Given the description of an element on the screen output the (x, y) to click on. 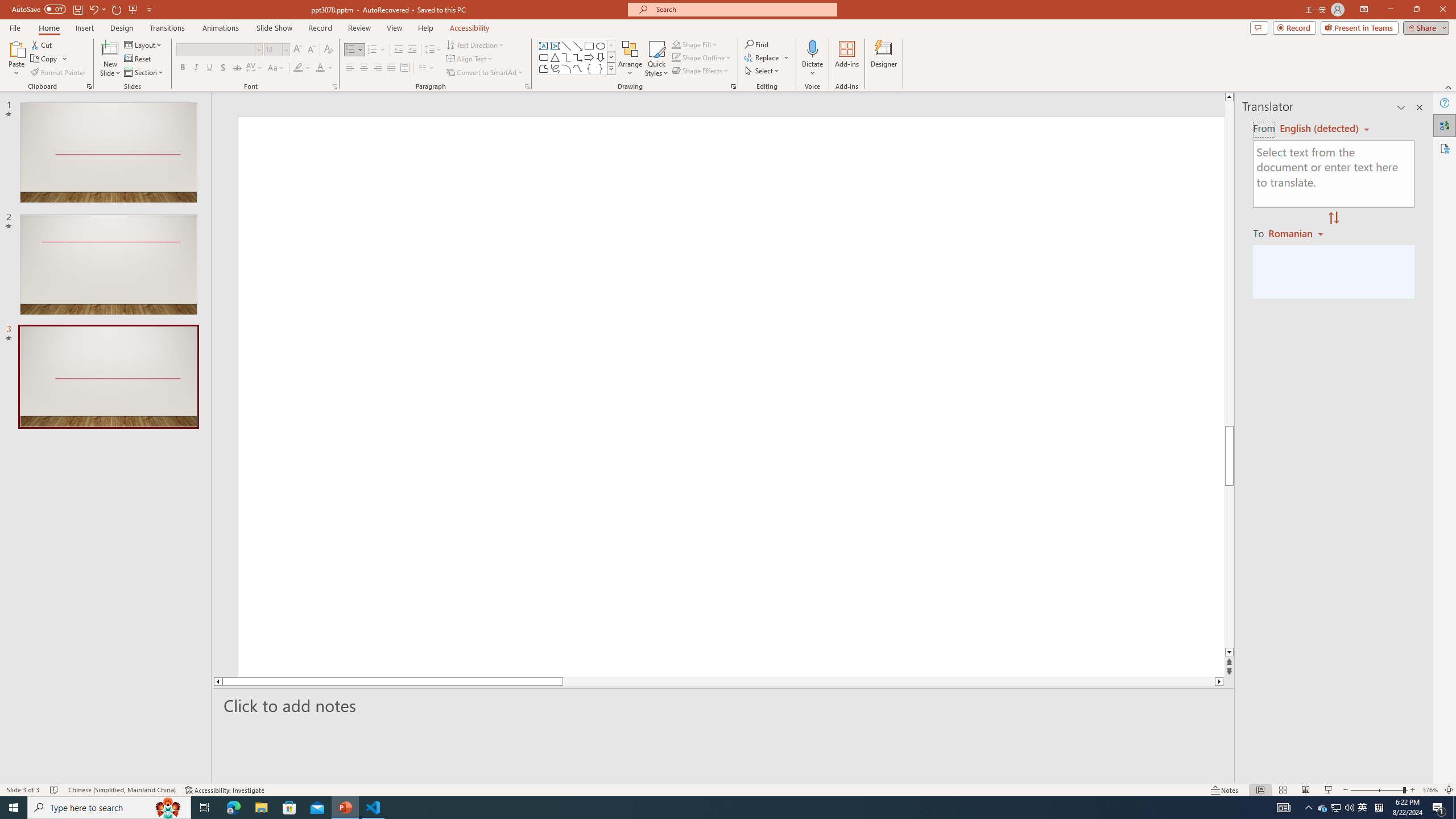
Shape Outline Green, Accent 1 (675, 56)
